Given the description of an element on the screen output the (x, y) to click on. 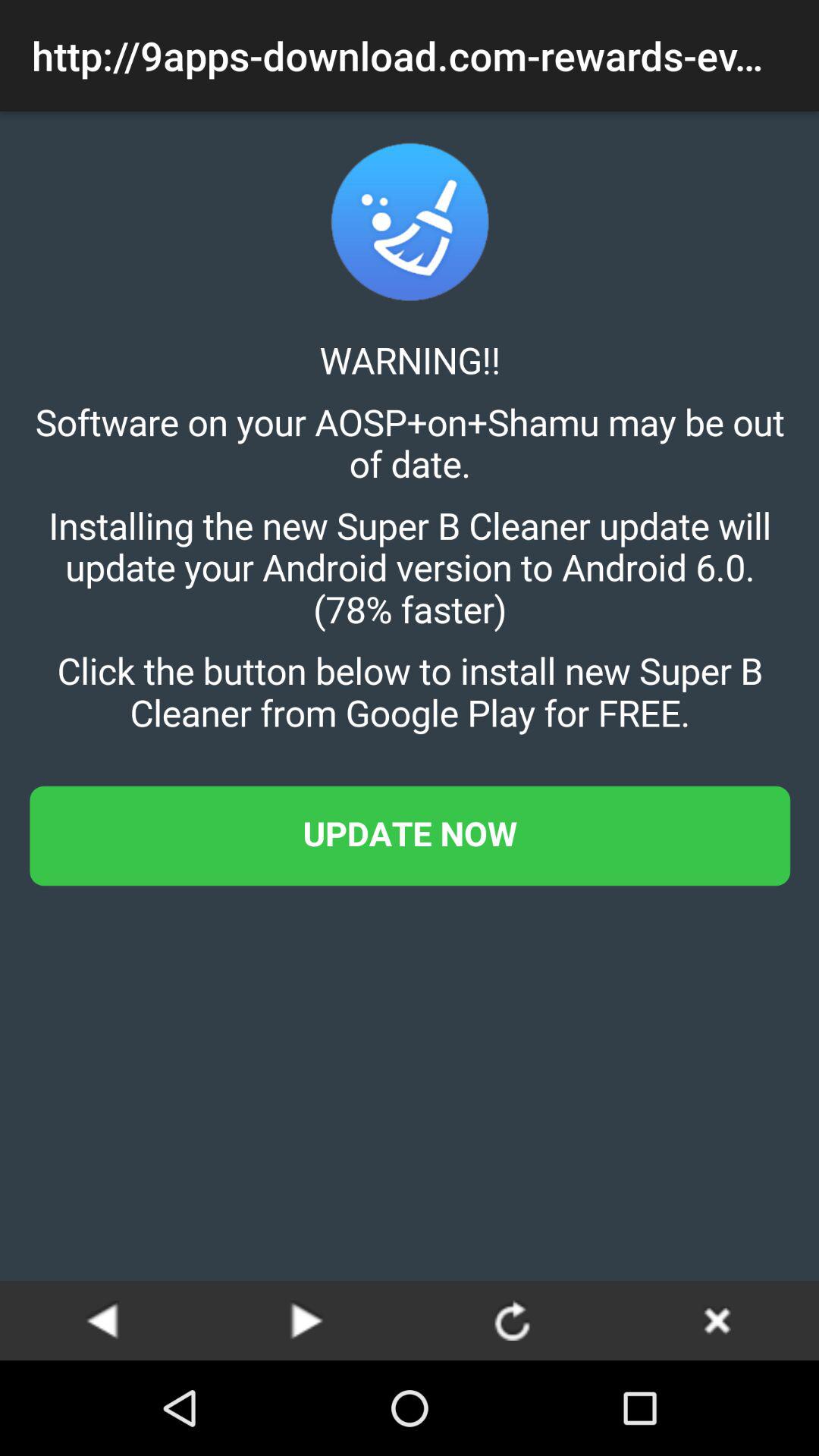
go back button option (716, 1320)
